Given the description of an element on the screen output the (x, y) to click on. 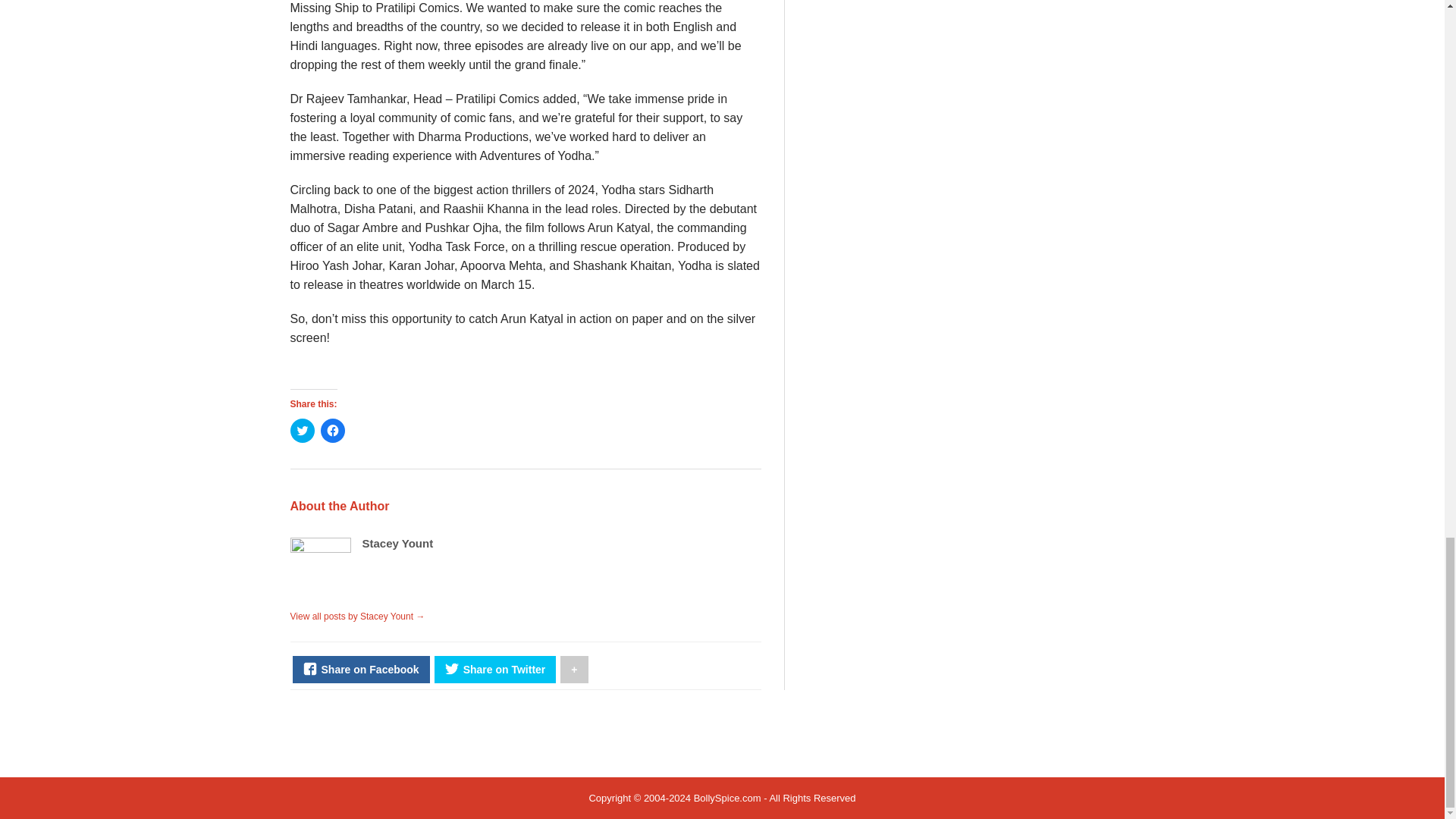
Click to share on Facebook (331, 430)
Click to share on Twitter (301, 430)
